Given the description of an element on the screen output the (x, y) to click on. 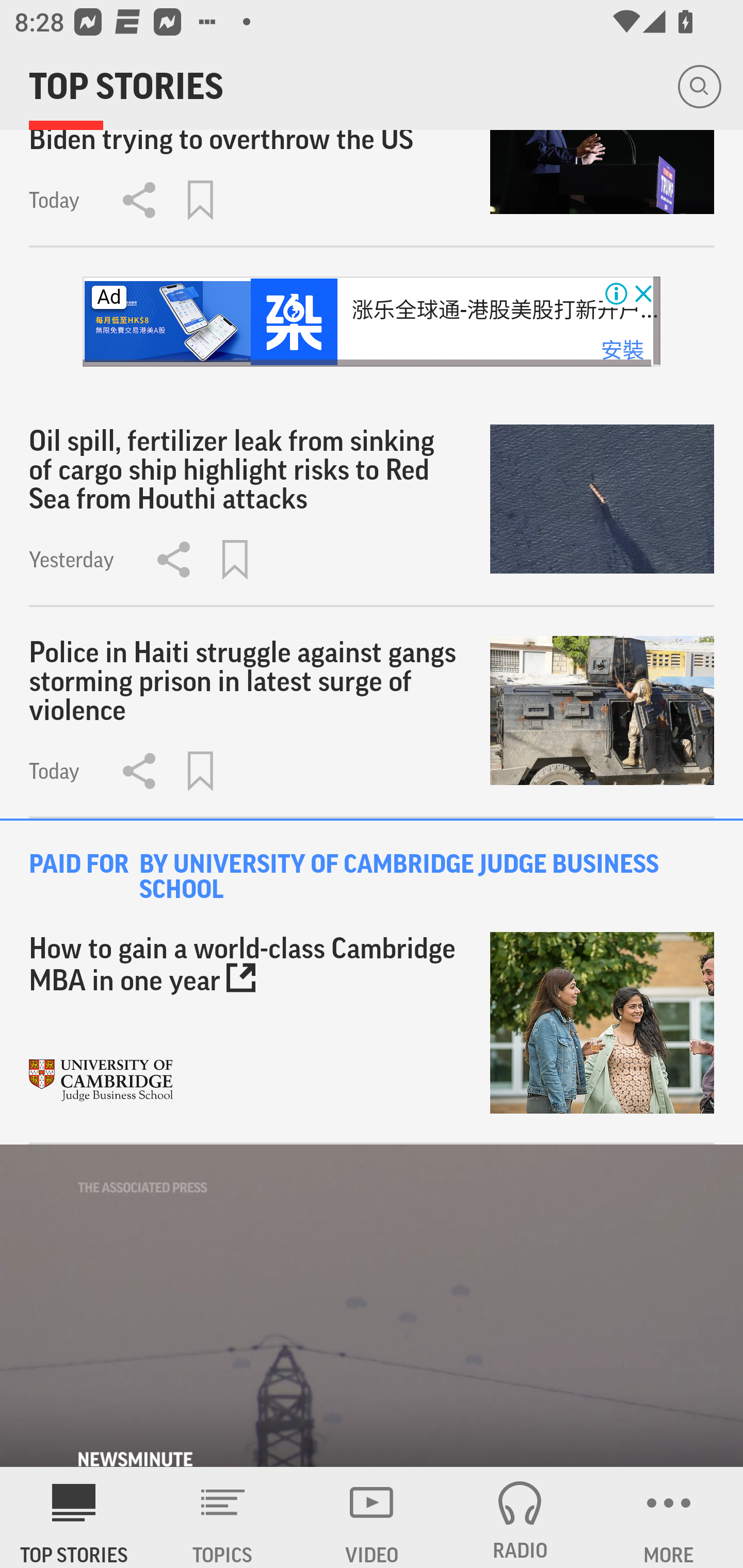
涨乐全球通-港股美股打新开户... (504, 310)
安裝 (621, 351)
toggle controls (371, 1305)
AP News TOP STORIES (74, 1517)
TOPICS (222, 1517)
VIDEO (371, 1517)
RADIO (519, 1517)
MORE (668, 1517)
